Given the description of an element on the screen output the (x, y) to click on. 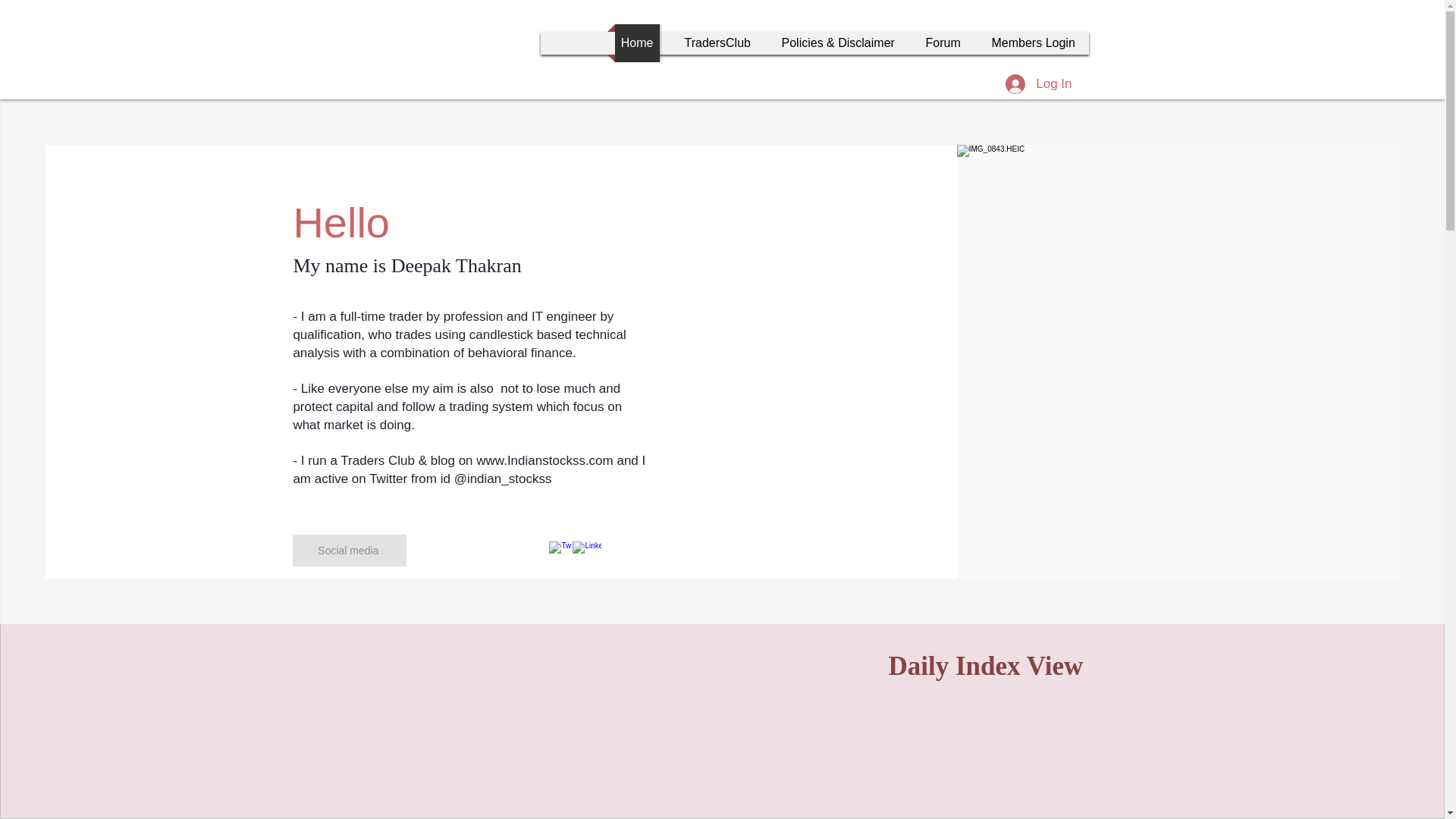
TradersClub (715, 43)
Home (636, 43)
Log In (1037, 83)
Forum (942, 43)
www.Indianstockss.com (544, 460)
Social media (349, 550)
Members Login (1033, 43)
